Given the description of an element on the screen output the (x, y) to click on. 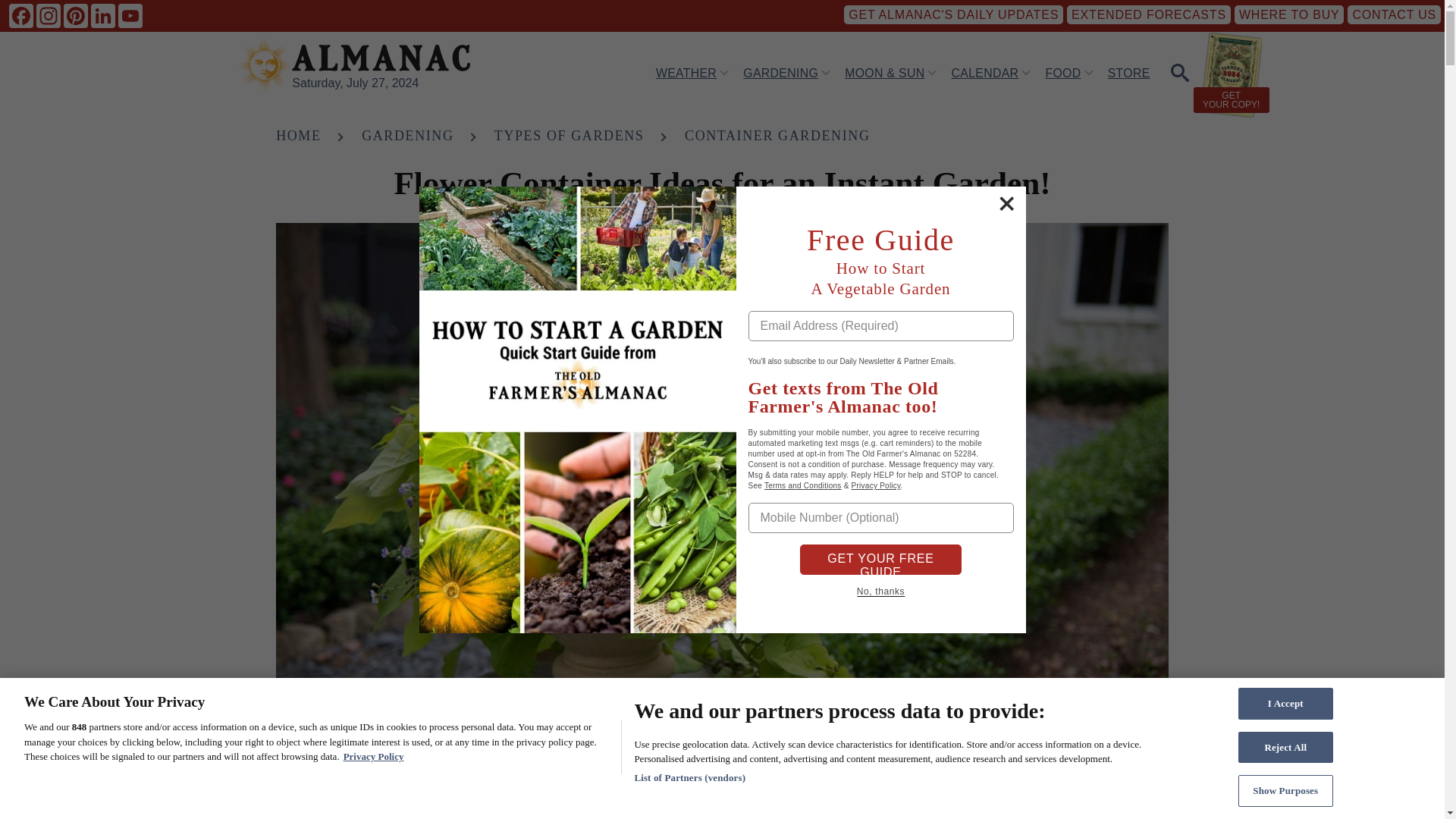
Saturday, July 27, 2024 (355, 82)
Pinterest (75, 15)
Printer Friendly and PDF (1156, 785)
GET ALMANAC'S DAILY UPDATES (953, 14)
CONTACT US (1394, 14)
Close Closes Web Dialog (1005, 203)
YouTube (130, 15)
WHERE TO BUY (1288, 14)
Skip to main content (595, 6)
Instagram (48, 15)
EXTENDED FORECASTS (1148, 14)
GARDENING (780, 72)
LinkedIn (102, 15)
Facebook (20, 15)
